Given the description of an element on the screen output the (x, y) to click on. 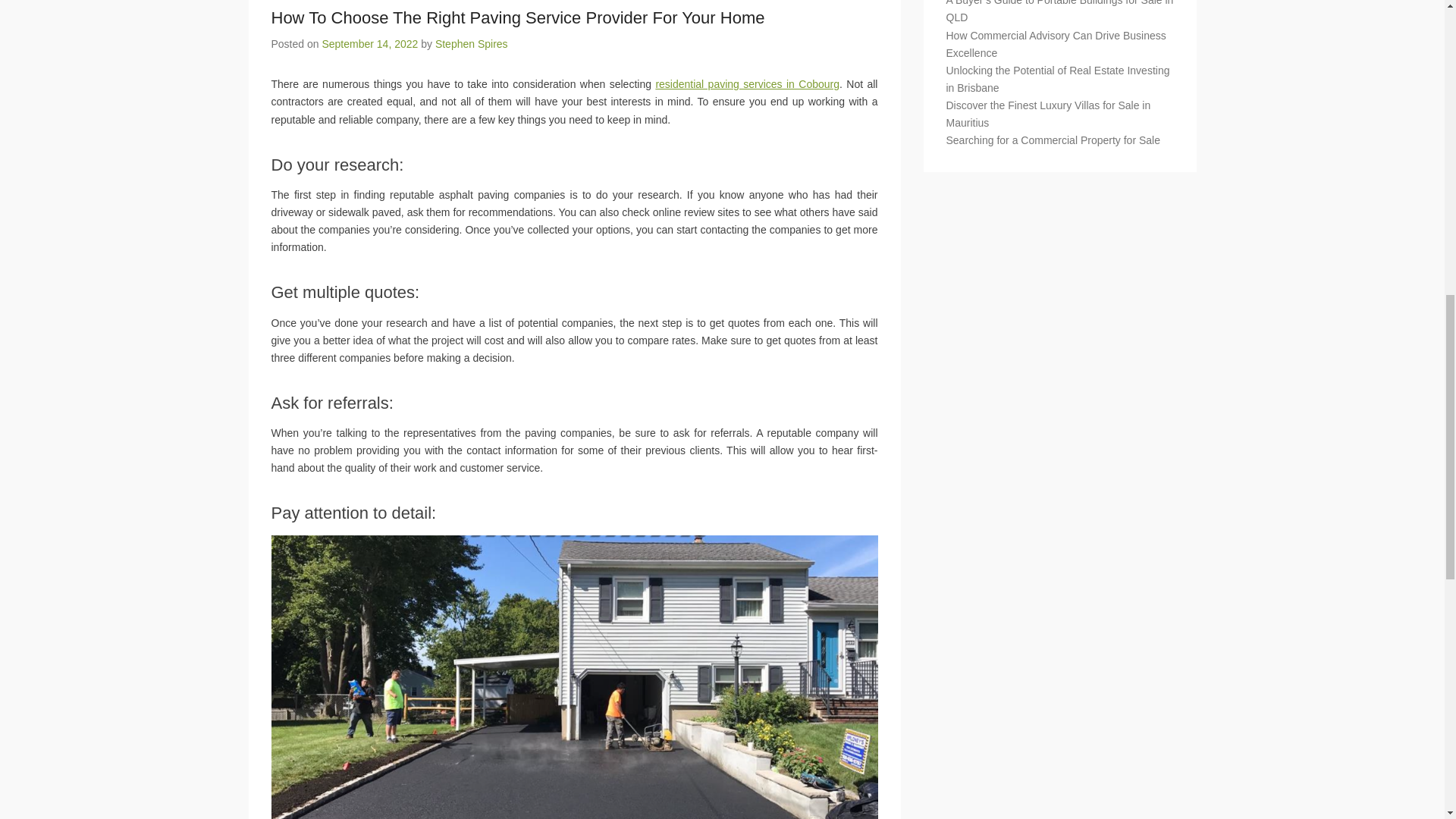
residential paving services in Cobourg (747, 83)
September 14, 2022 (369, 43)
6:31 am (369, 43)
View all posts by Stephen Spires (471, 43)
Stephen Spires (471, 43)
